Given the description of an element on the screen output the (x, y) to click on. 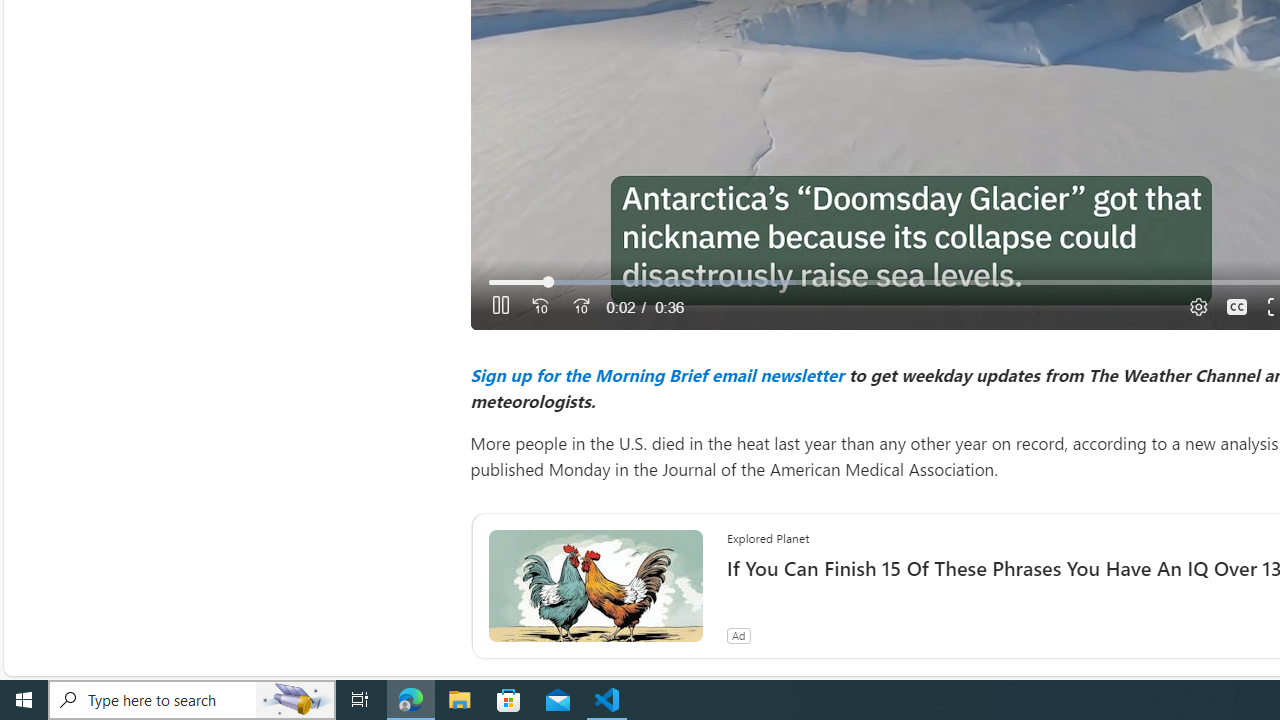
Captions (1236, 306)
Seek Back (539, 306)
Pause (500, 306)
Sign up for the Morning Brief email newsletter (656, 373)
Seek Forward (580, 306)
Quality Settings (1196, 306)
